Given the description of an element on the screen output the (x, y) to click on. 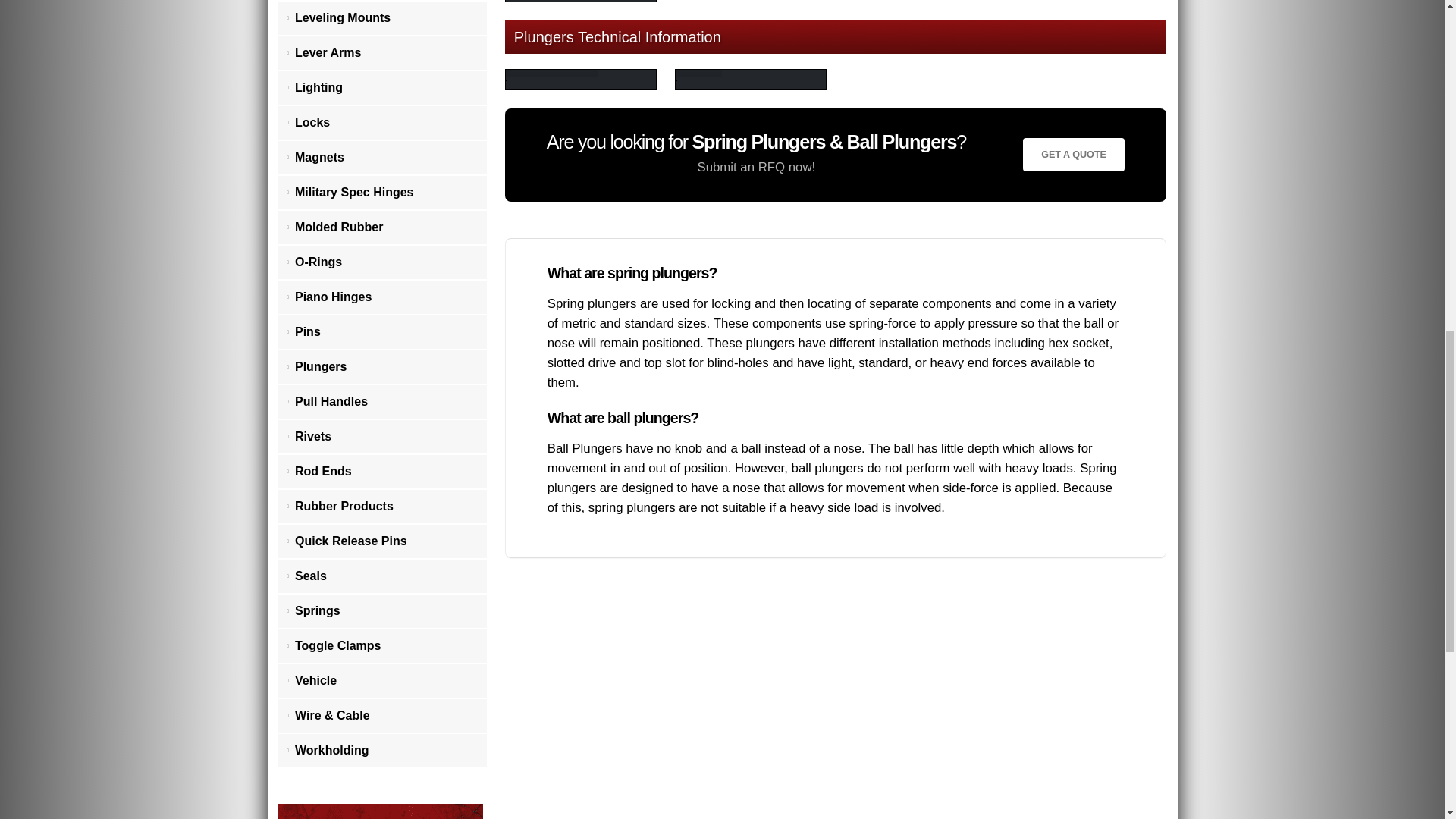
Leveling Mounts (382, 18)
Lever Arms (382, 53)
